Given the description of an element on the screen output the (x, y) to click on. 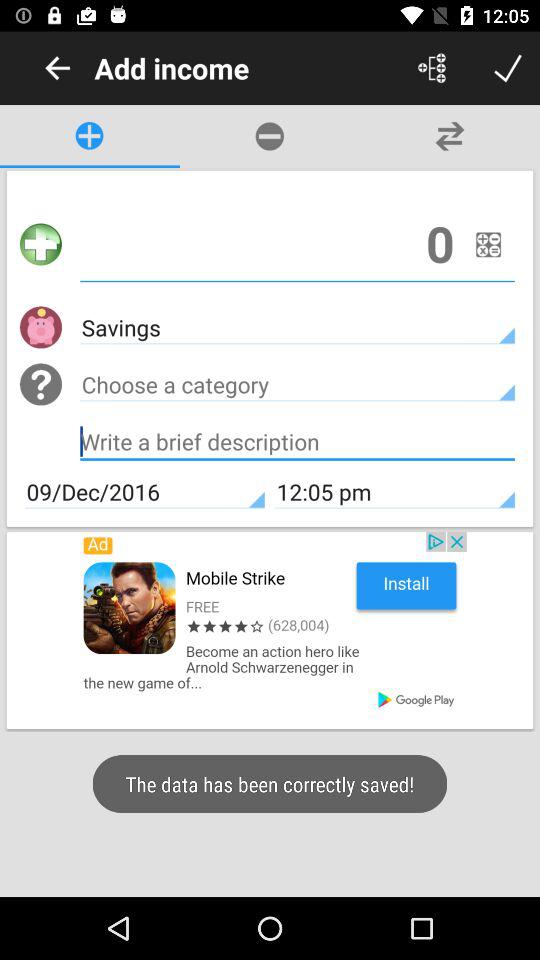
open ability to write a description (297, 444)
